Given the description of an element on the screen output the (x, y) to click on. 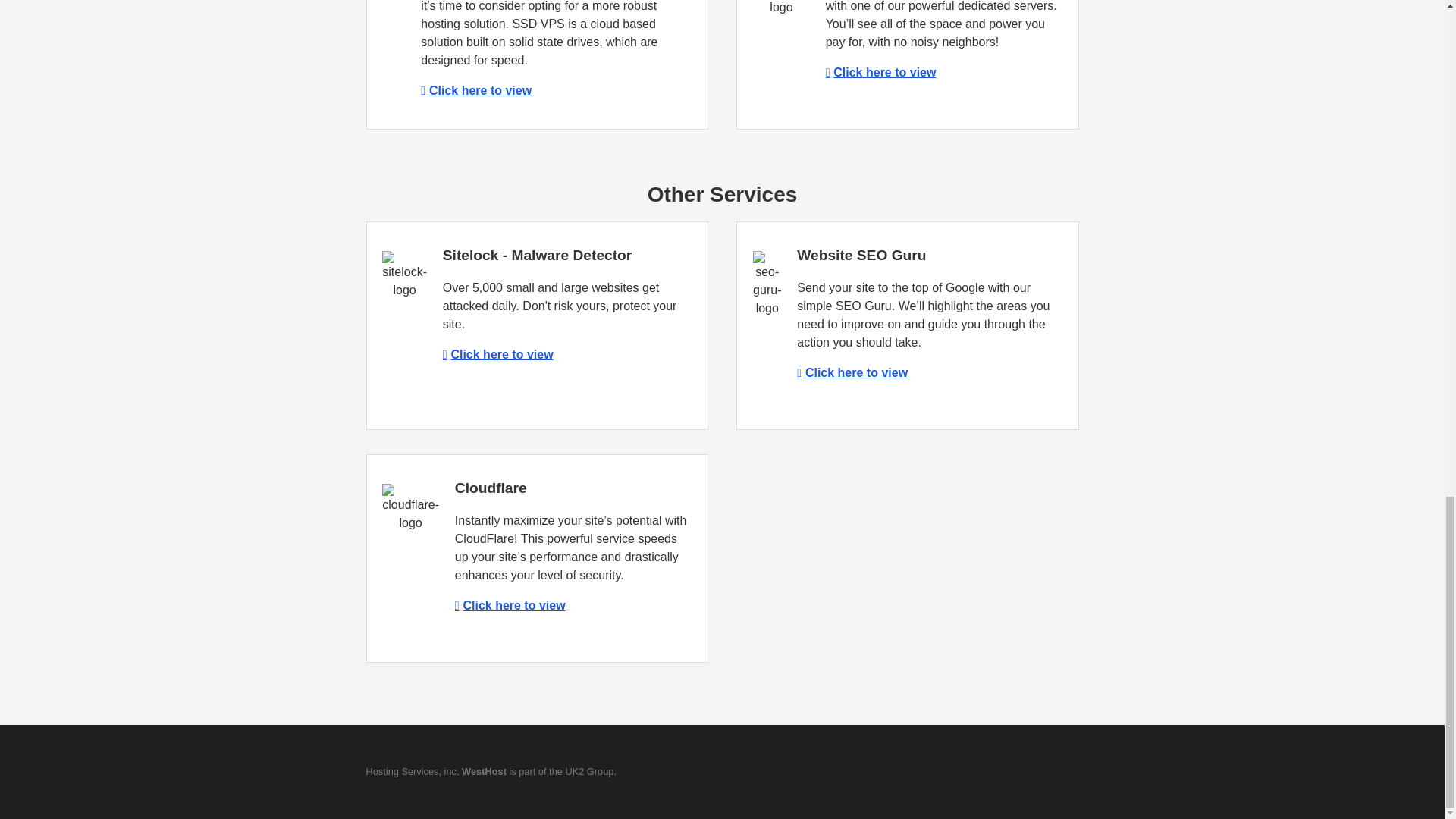
Click here to view (880, 72)
Click here to view (851, 372)
WestHost (483, 771)
Click here to view (475, 90)
Click here to view (510, 604)
Click here to view (497, 354)
